Given the description of an element on the screen output the (x, y) to click on. 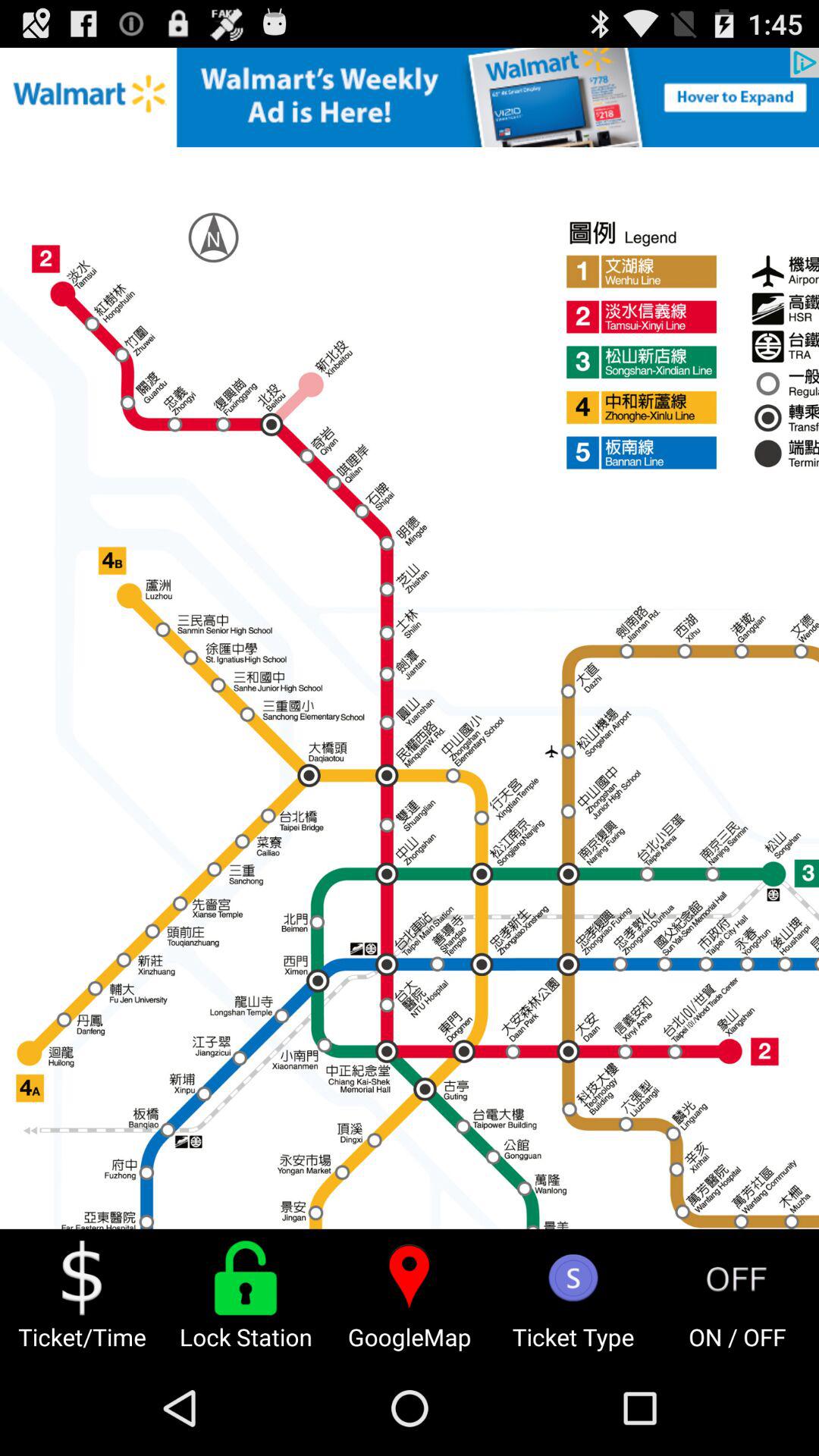
go to advertisement (409, 97)
